Given the description of an element on the screen output the (x, y) to click on. 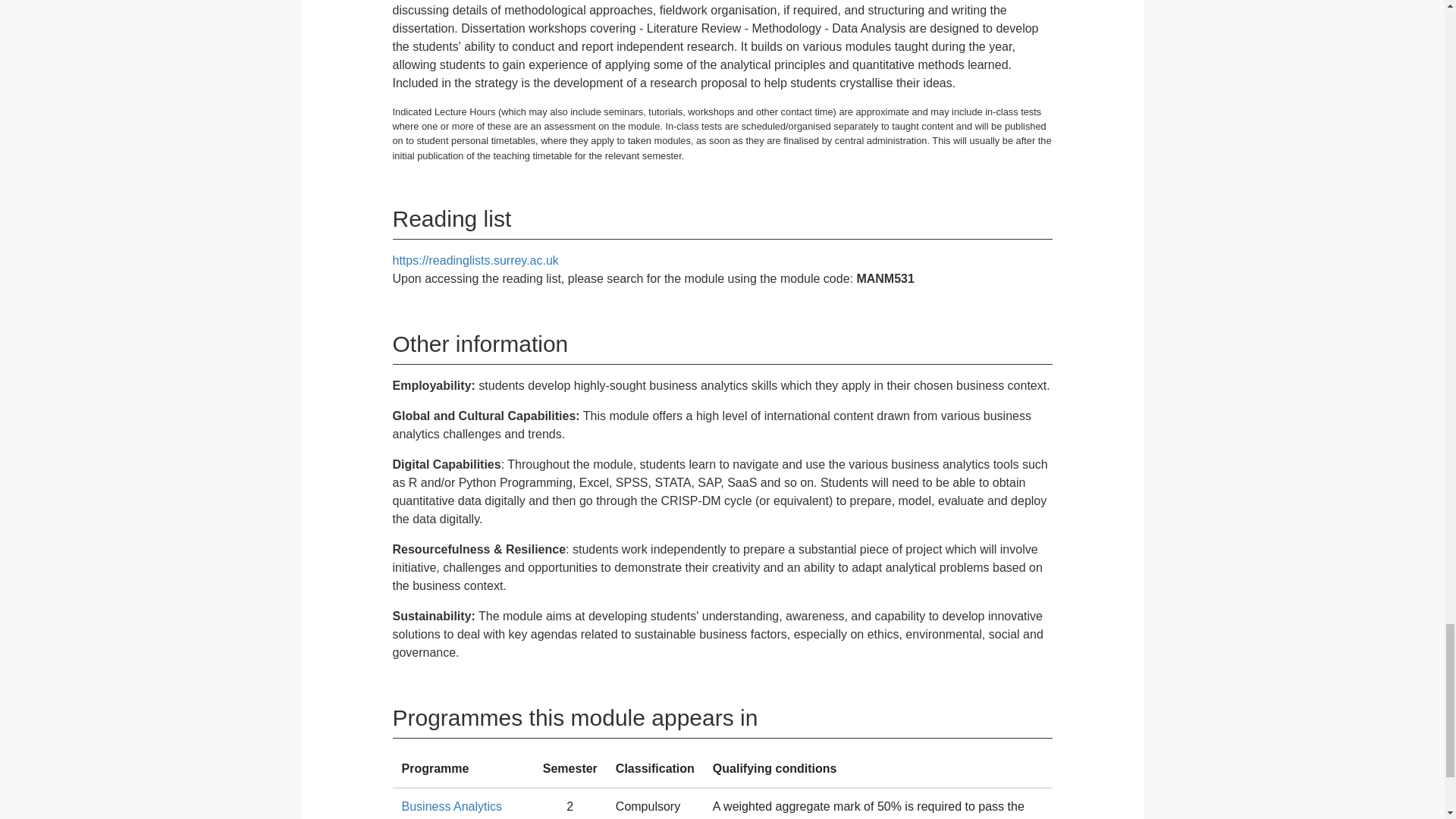
Business Analytics MSc (451, 809)
